Given the description of an element on the screen output the (x, y) to click on. 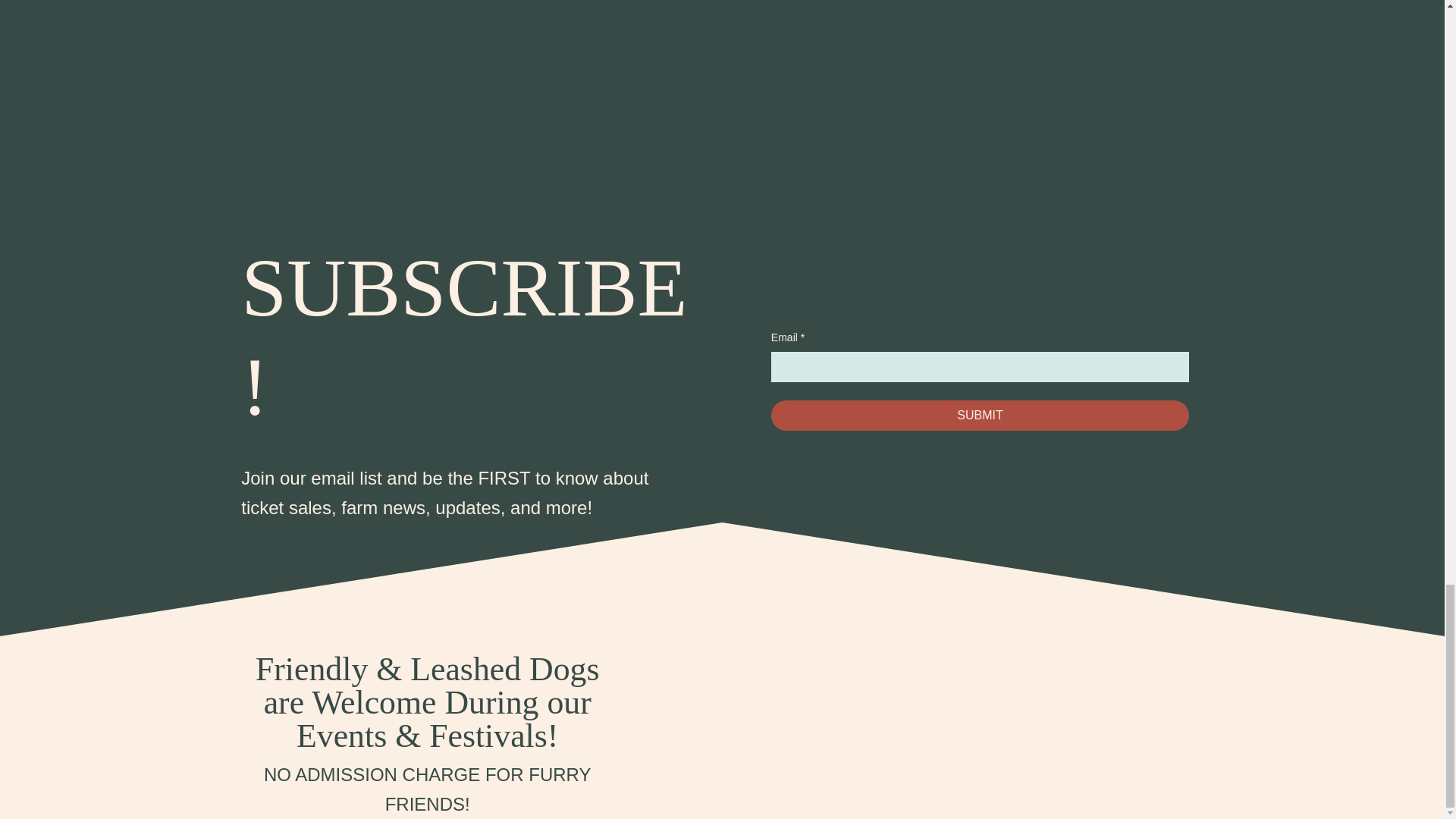
SUBMIT (980, 415)
